Given the description of an element on the screen output the (x, y) to click on. 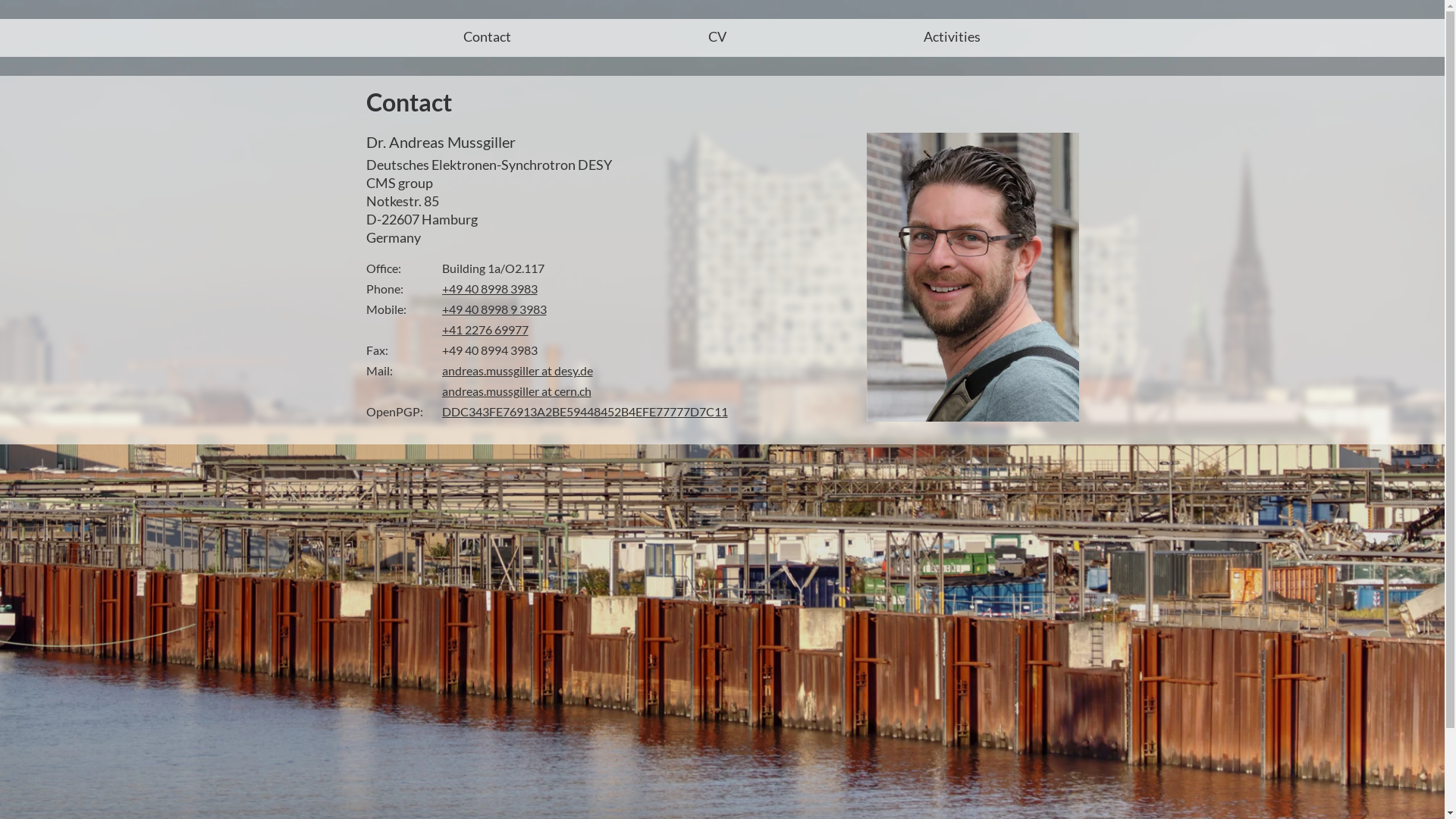
+41 2276 69977 Element type: text (484, 329)
andreas.mussgiller at desy.de Element type: text (516, 370)
DDC343FE76913A2BE59448452B4EFE77777D7C11 Element type: text (584, 411)
+49 40 8998 3983 Element type: text (488, 288)
andreas.mussgiller at cern.ch Element type: text (515, 390)
+49 40 8998 9 3983 Element type: text (493, 308)
